Given the description of an element on the screen output the (x, y) to click on. 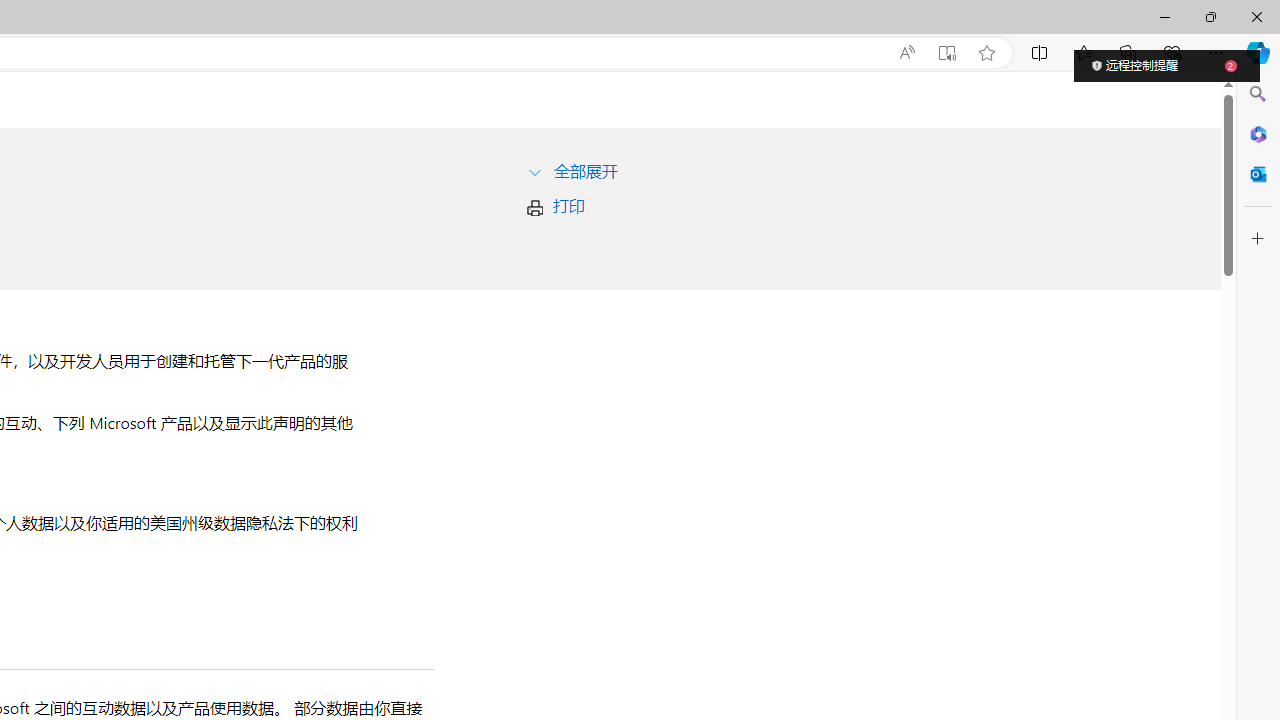
Microsoft 365 (1258, 133)
Customize (1258, 239)
Enter Immersive Reader (F9) (946, 53)
Search (1258, 94)
